Given the description of an element on the screen output the (x, y) to click on. 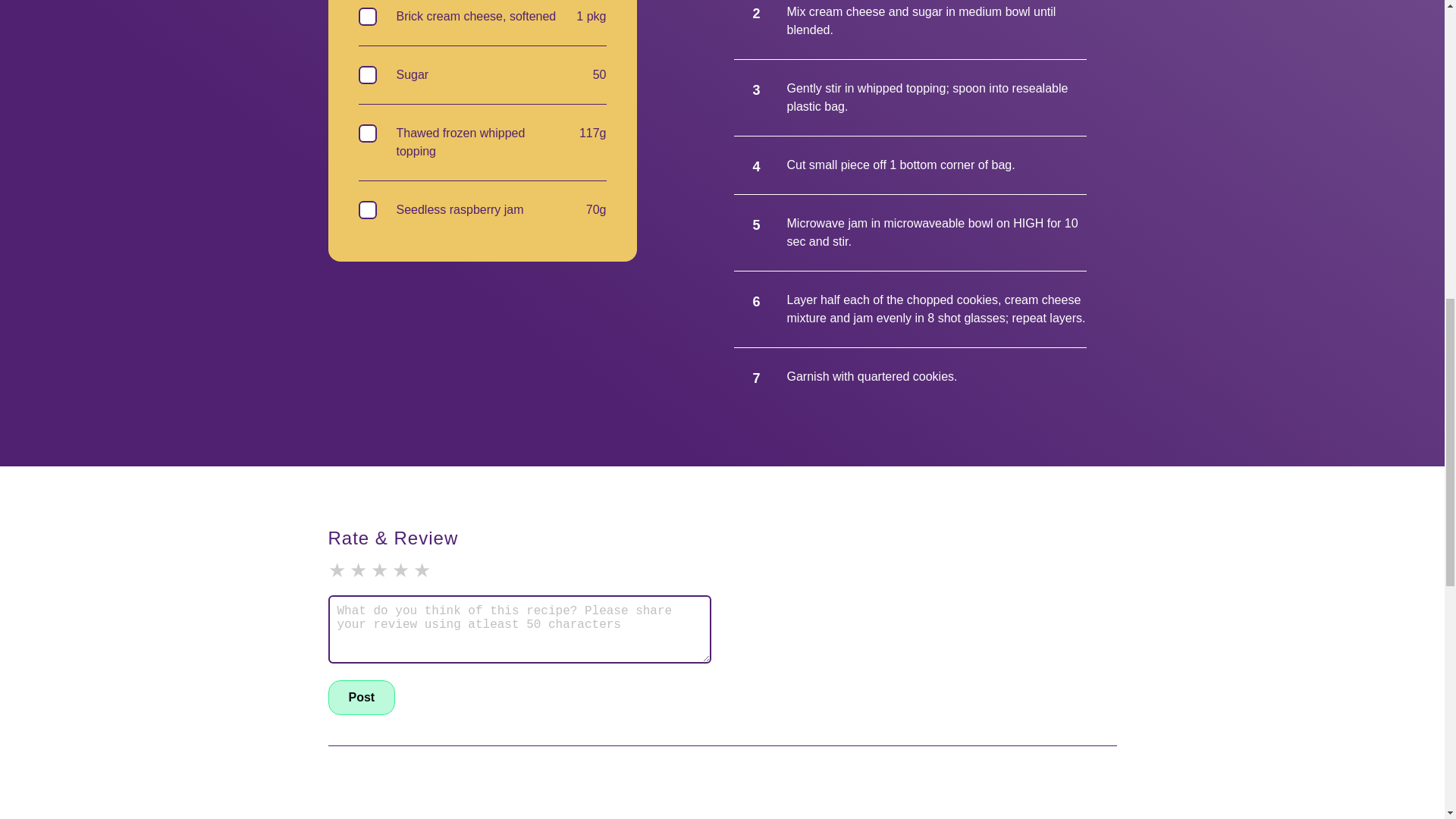
Post (360, 697)
